Given the description of an element on the screen output the (x, y) to click on. 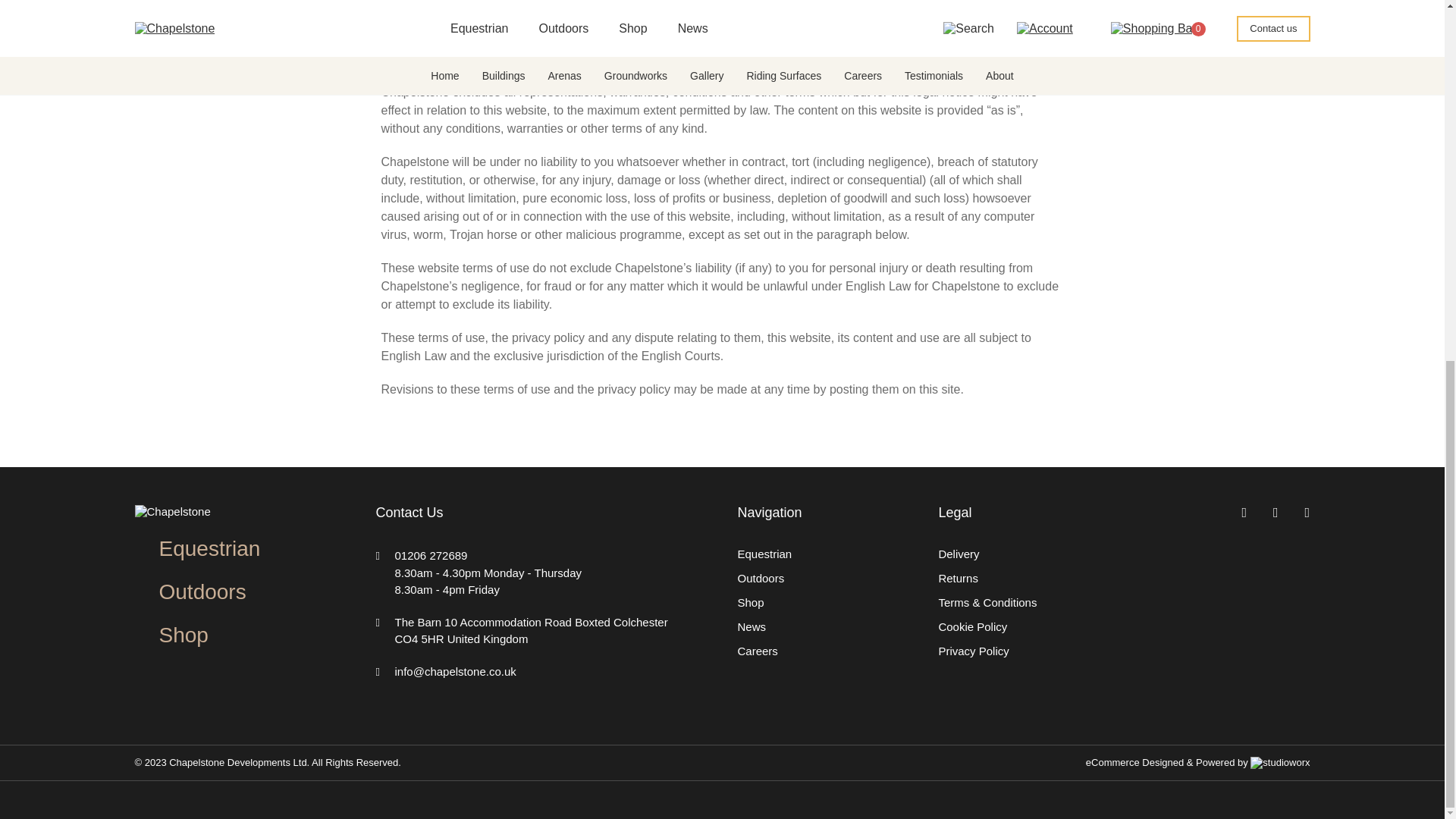
Shop (183, 635)
Equestrian (209, 548)
Outdoors (202, 591)
